Given the description of an element on the screen output the (x, y) to click on. 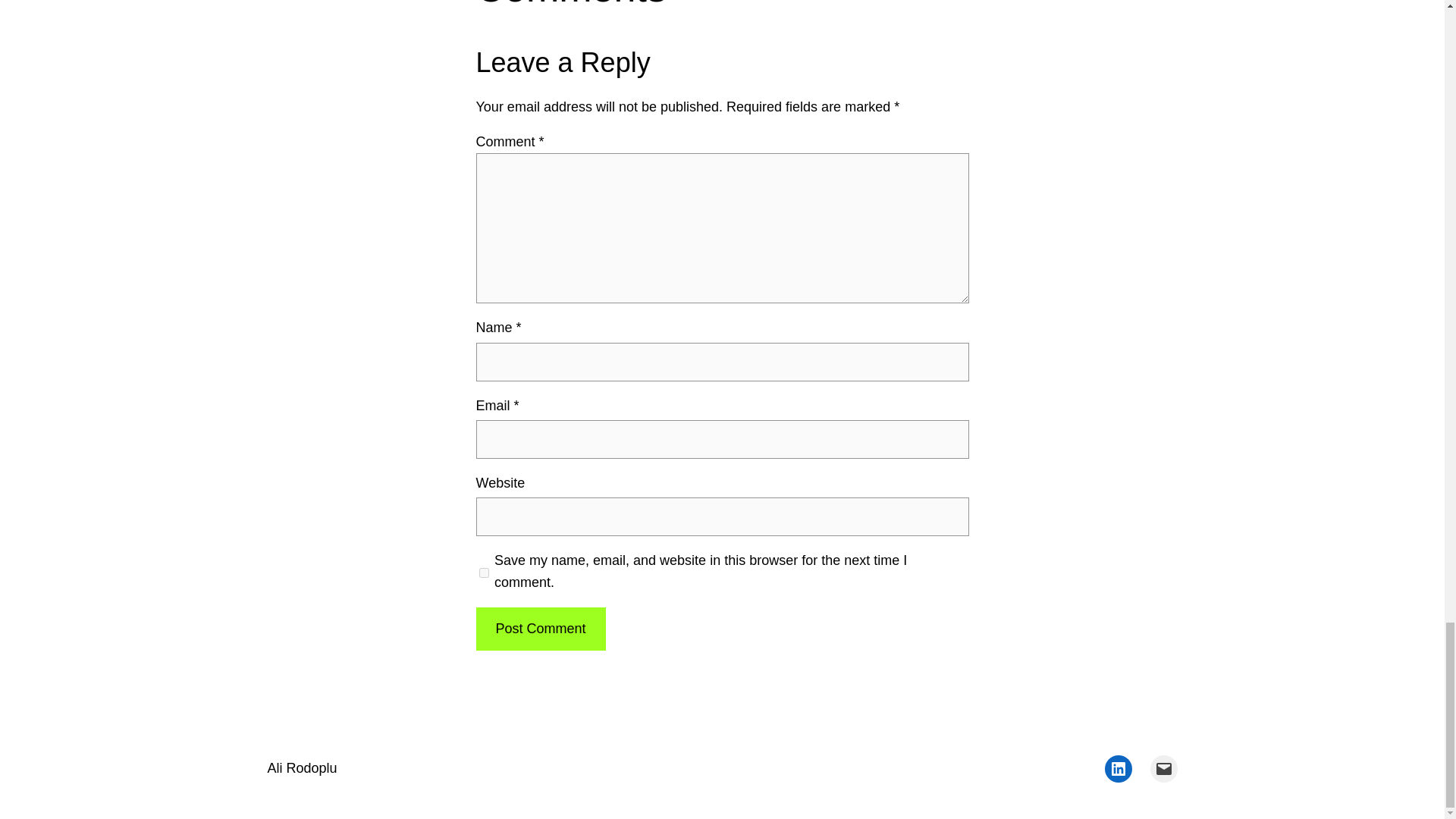
Post Comment (540, 628)
Ali Rodoplu (301, 767)
LinkedIn (1117, 768)
Mail (1163, 768)
Post Comment (540, 628)
